Given the description of an element on the screen output the (x, y) to click on. 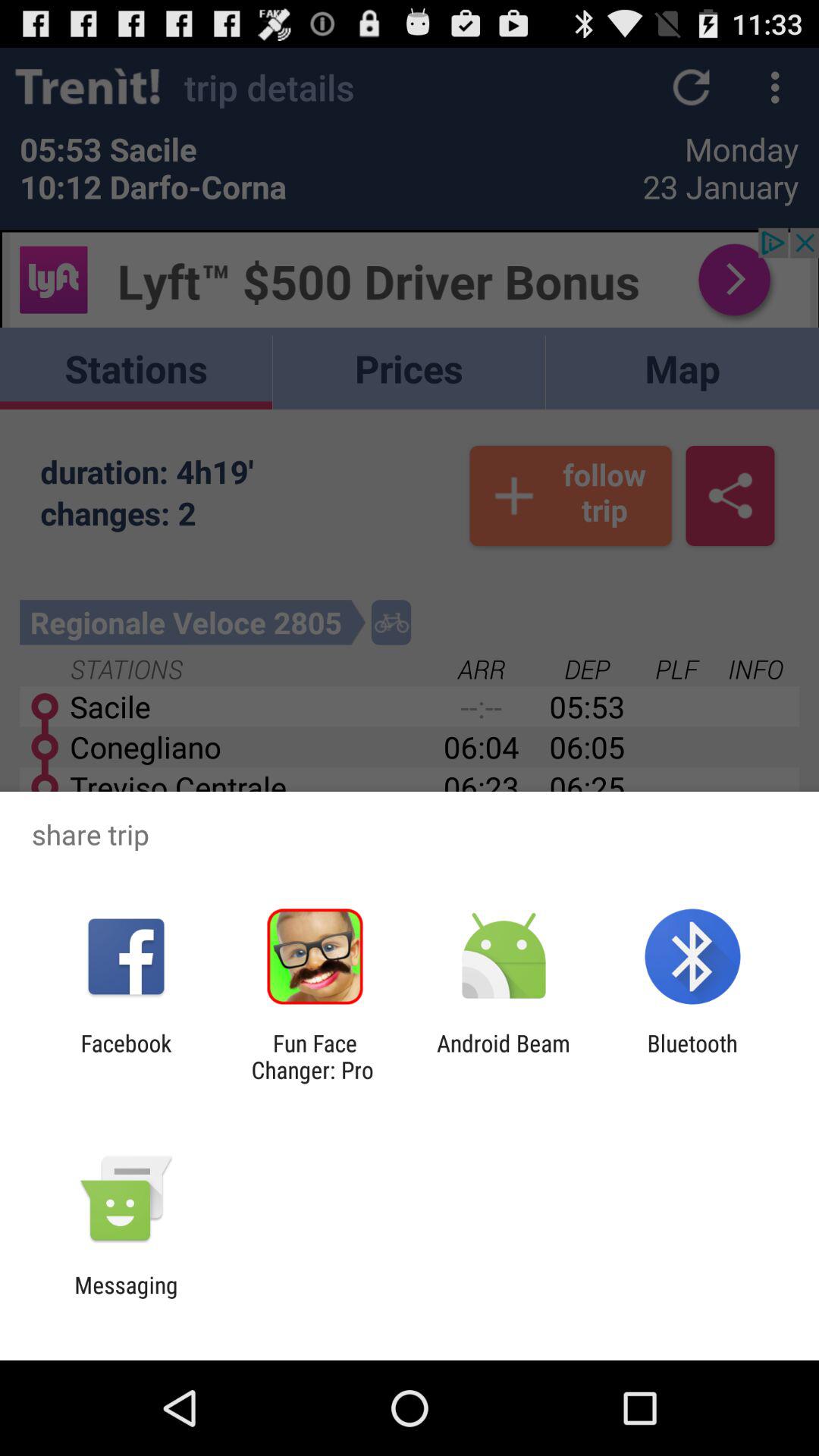
open app to the right of the facebook item (314, 1056)
